Given the description of an element on the screen output the (x, y) to click on. 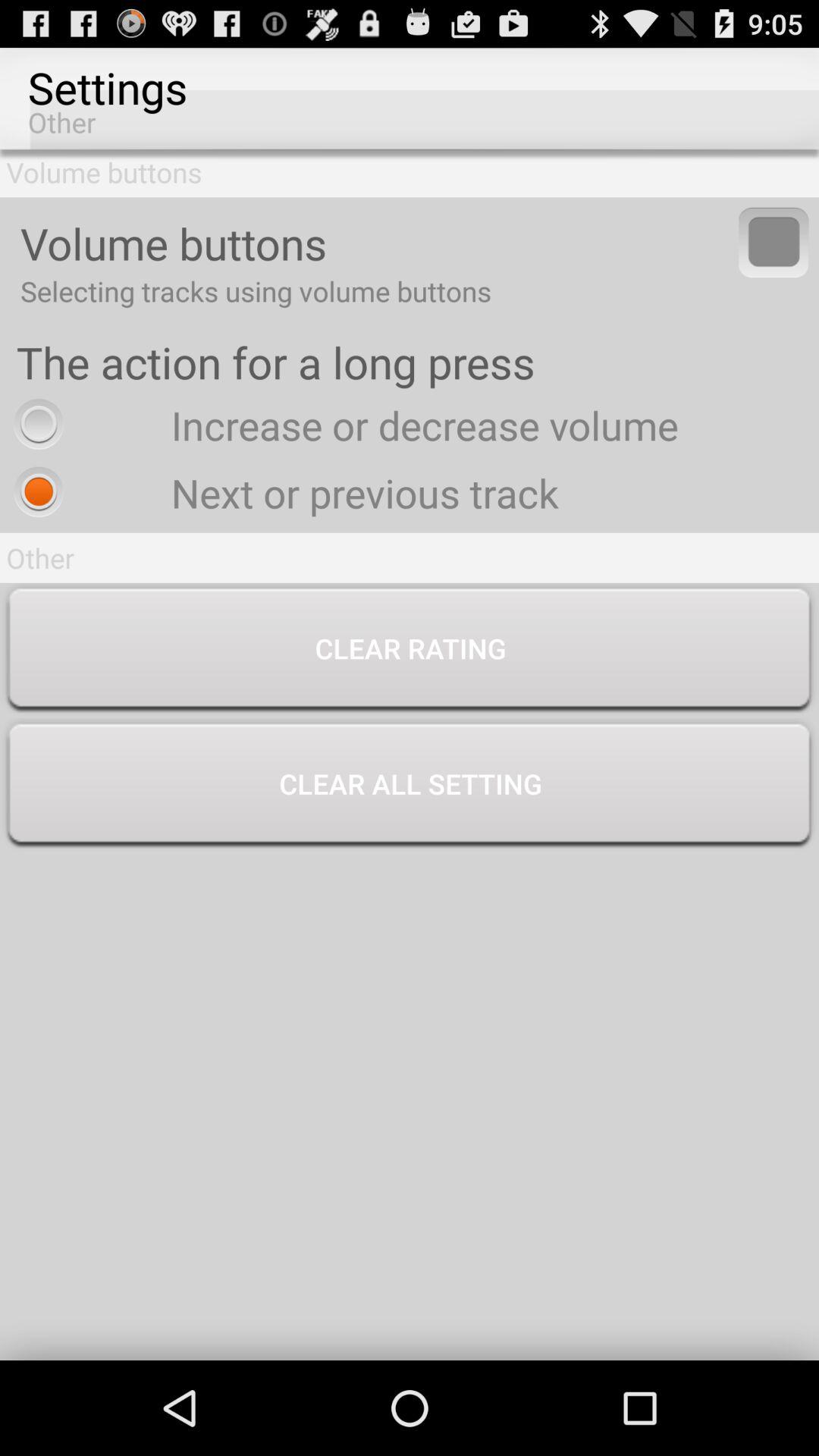
jump to the clear rating (409, 650)
